Given the description of an element on the screen output the (x, y) to click on. 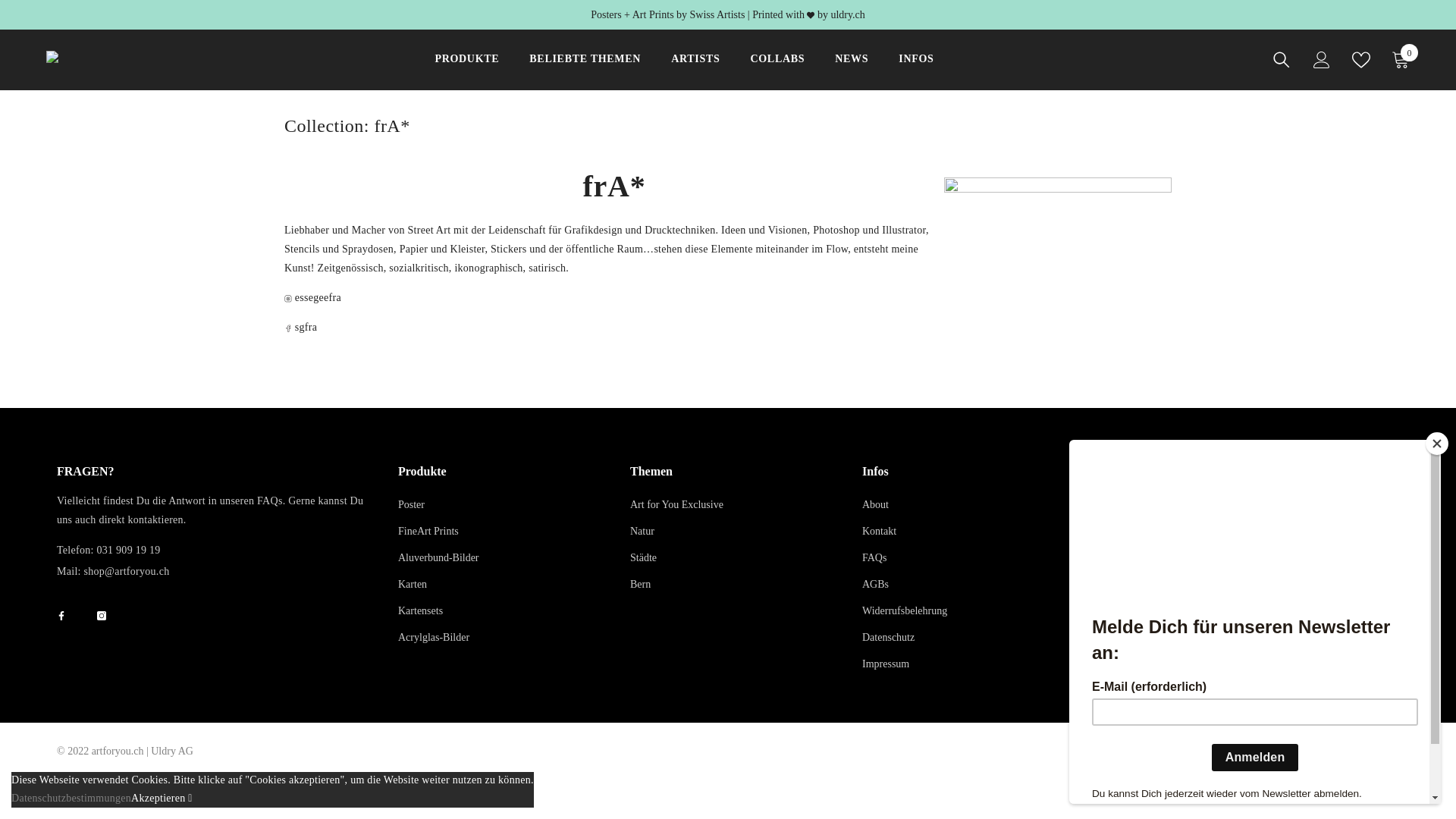
PRODUKTE Element type: text (466, 70)
FineArt Prints Element type: text (428, 530)
essegeefra Element type: text (317, 297)
Widerrufsbelehrung Element type: text (904, 610)
Karten Element type: text (412, 584)
Datenschutzbestimmungen Element type: text (71, 797)
031 909 19 19 Element type: text (128, 549)
Natur Element type: text (642, 530)
ARTISTS Element type: text (694, 70)
INFOS Element type: text (915, 70)
Poster Element type: text (411, 504)
Facebook Element type: text (61, 615)
Kontakt Element type: text (879, 530)
FAQs Element type: text (874, 557)
Aluverbund-Bilder Element type: text (438, 557)
COLLABS Element type: text (776, 70)
Acrylglas-Bilder Element type: text (433, 637)
NEWS Element type: text (851, 70)
About Element type: text (875, 504)
Anmelden Element type: text (1349, 566)
sgfra Element type: text (305, 326)
Instagram Element type: text (101, 615)
Art for You Exclusive Element type: text (676, 504)
shop@artforyou.ch Element type: text (126, 571)
Wagen
0
0 Artikel Element type: text (1400, 59)
AGBs Element type: text (875, 584)
BELIEBTE THEMEN Element type: text (584, 70)
Impressum Element type: text (885, 663)
Bern Element type: text (640, 584)
Datenschutz Element type: text (888, 637)
Kartensets Element type: text (420, 610)
